Given the description of an element on the screen output the (x, y) to click on. 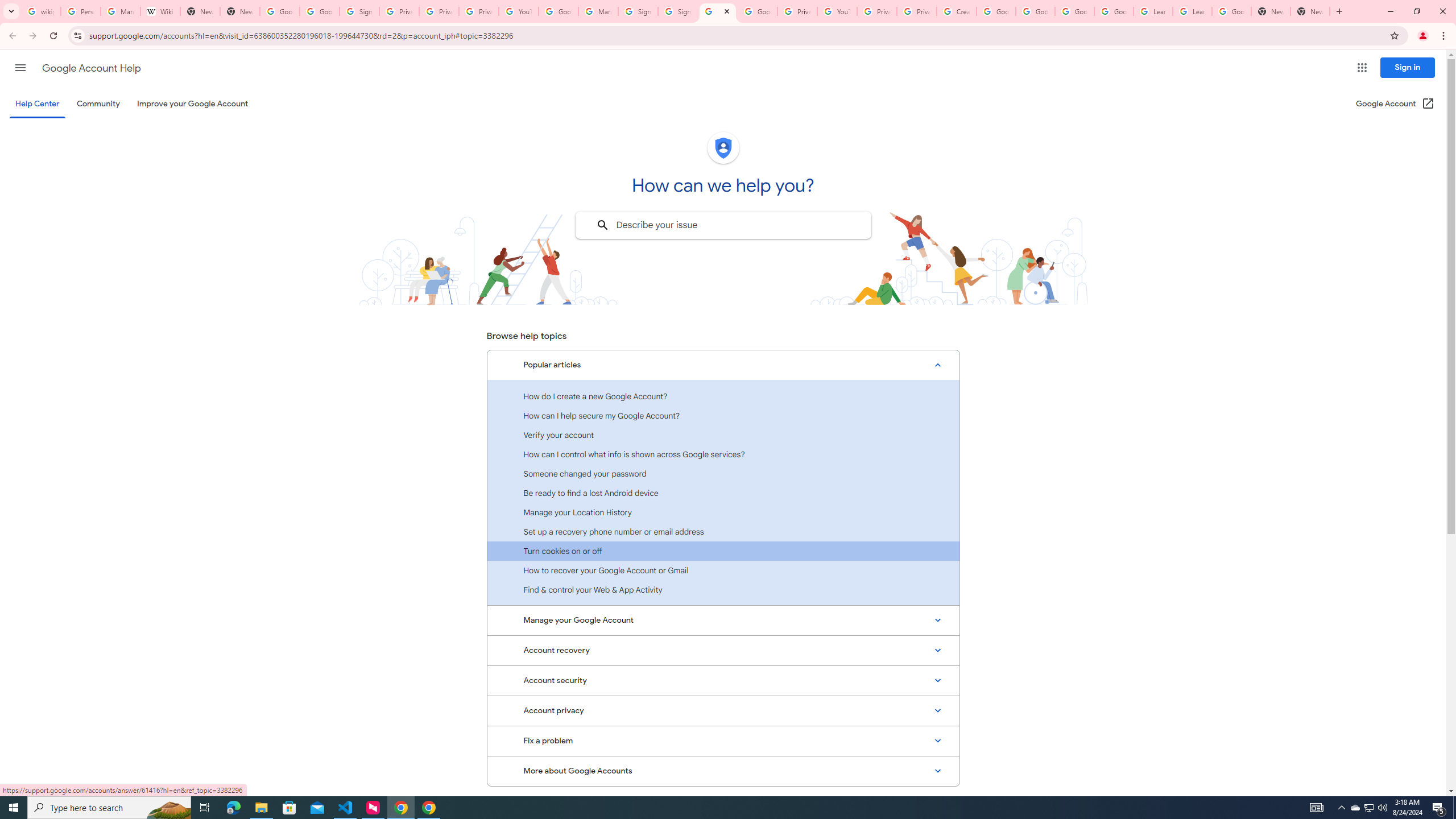
New Tab (1310, 11)
Google Account Help (1113, 11)
Google Account Help (717, 11)
Google Account Help (1034, 11)
Google Account (1231, 11)
Google Account Help (557, 11)
Set up a recovery phone number or email address (722, 531)
Personalization & Google Search results - Google Search Help (80, 11)
